Given the description of an element on the screen output the (x, y) to click on. 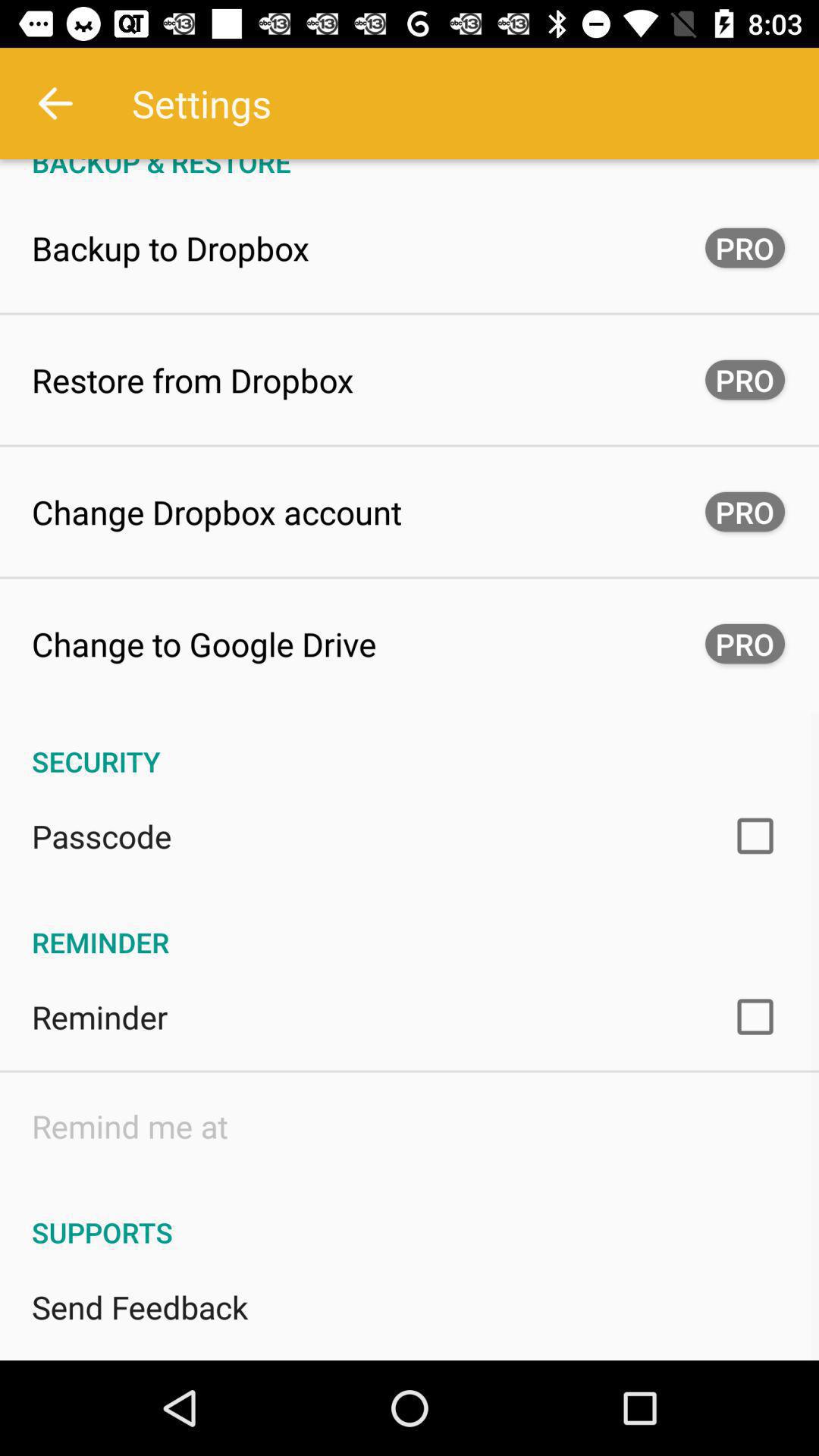
flip to remind me at (129, 1125)
